Given the description of an element on the screen output the (x, y) to click on. 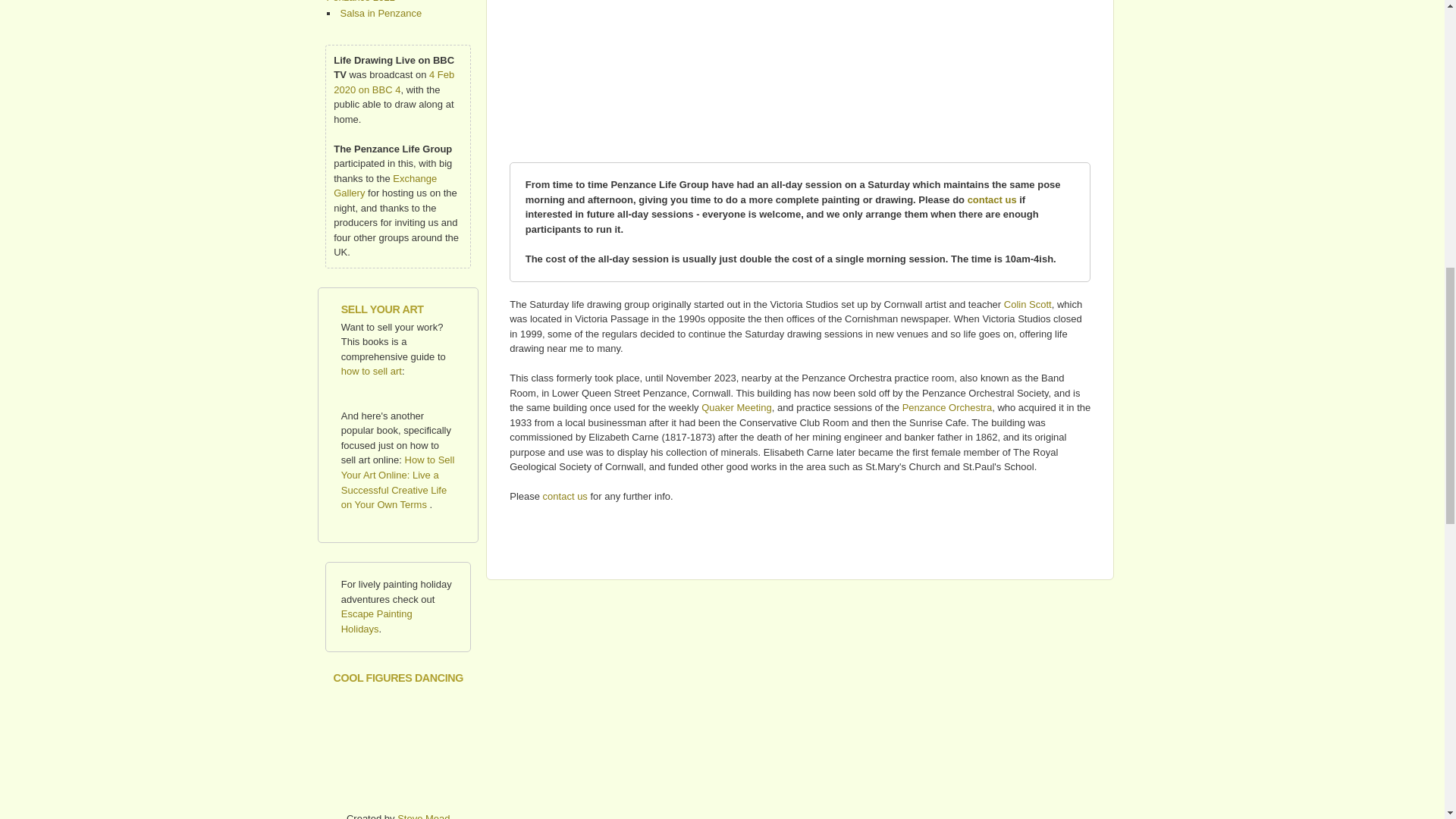
Colin Scott (1027, 304)
Quaker Meeting (736, 407)
Penzance Orchestra (947, 407)
contact us (992, 199)
